Given the description of an element on the screen output the (x, y) to click on. 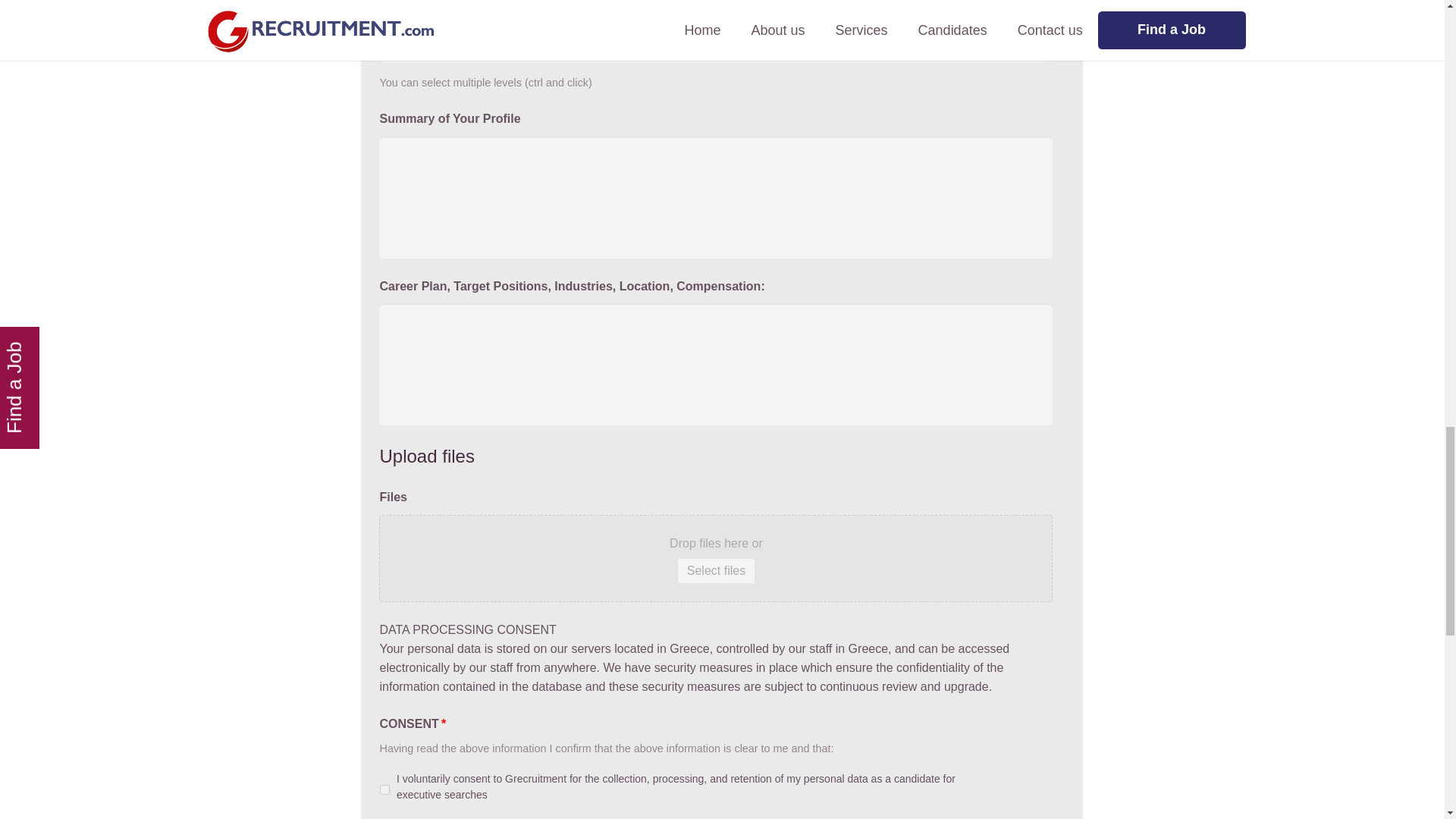
Select files (716, 570)
